Given the description of an element on the screen output the (x, y) to click on. 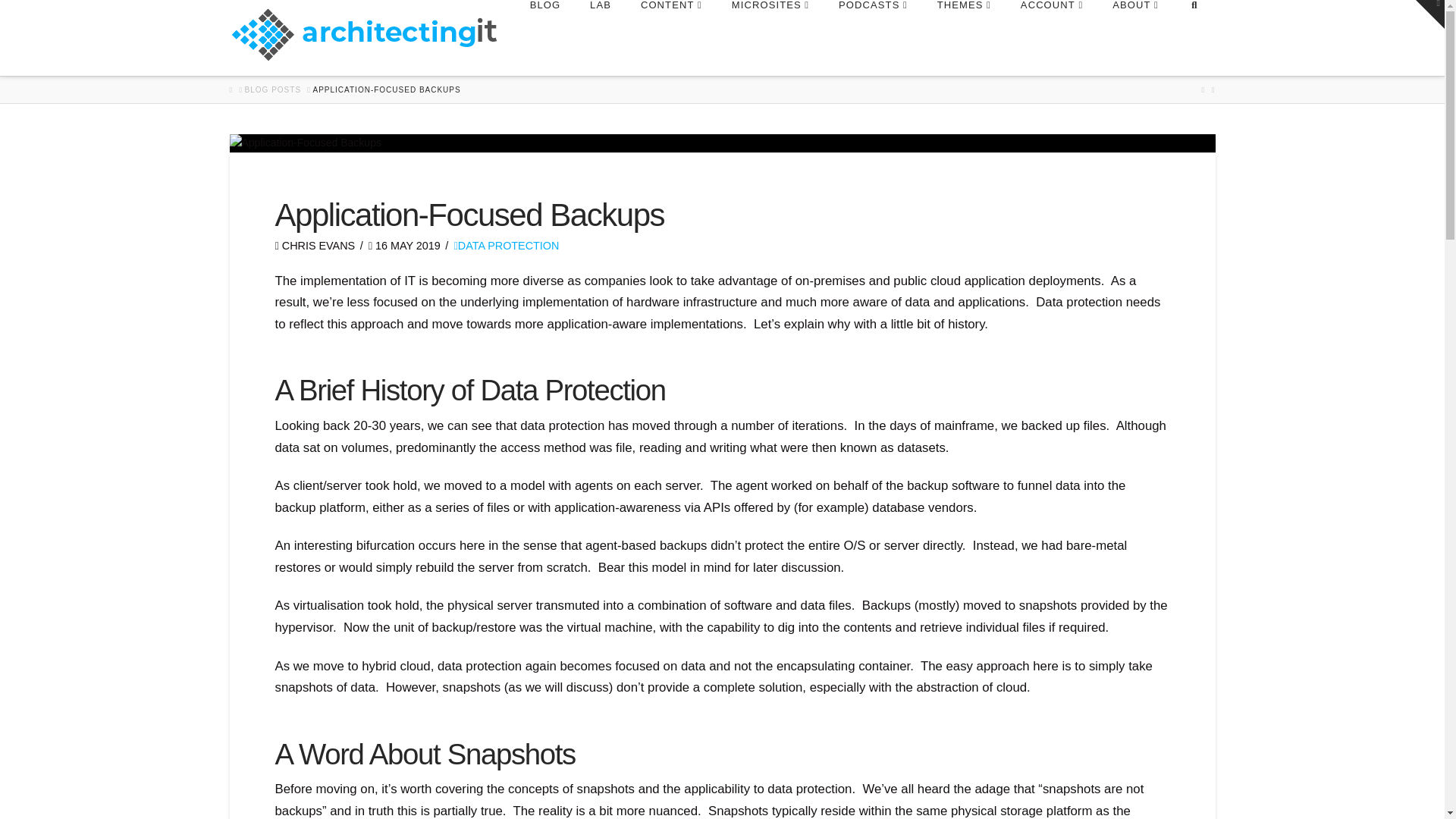
You Are Here (386, 90)
ACCOUNT (1051, 38)
THEMES (963, 38)
MICROSITES (770, 38)
PODCASTS (872, 38)
CONTENT (671, 38)
Application-Focused Backups (721, 143)
